Given the description of an element on the screen output the (x, y) to click on. 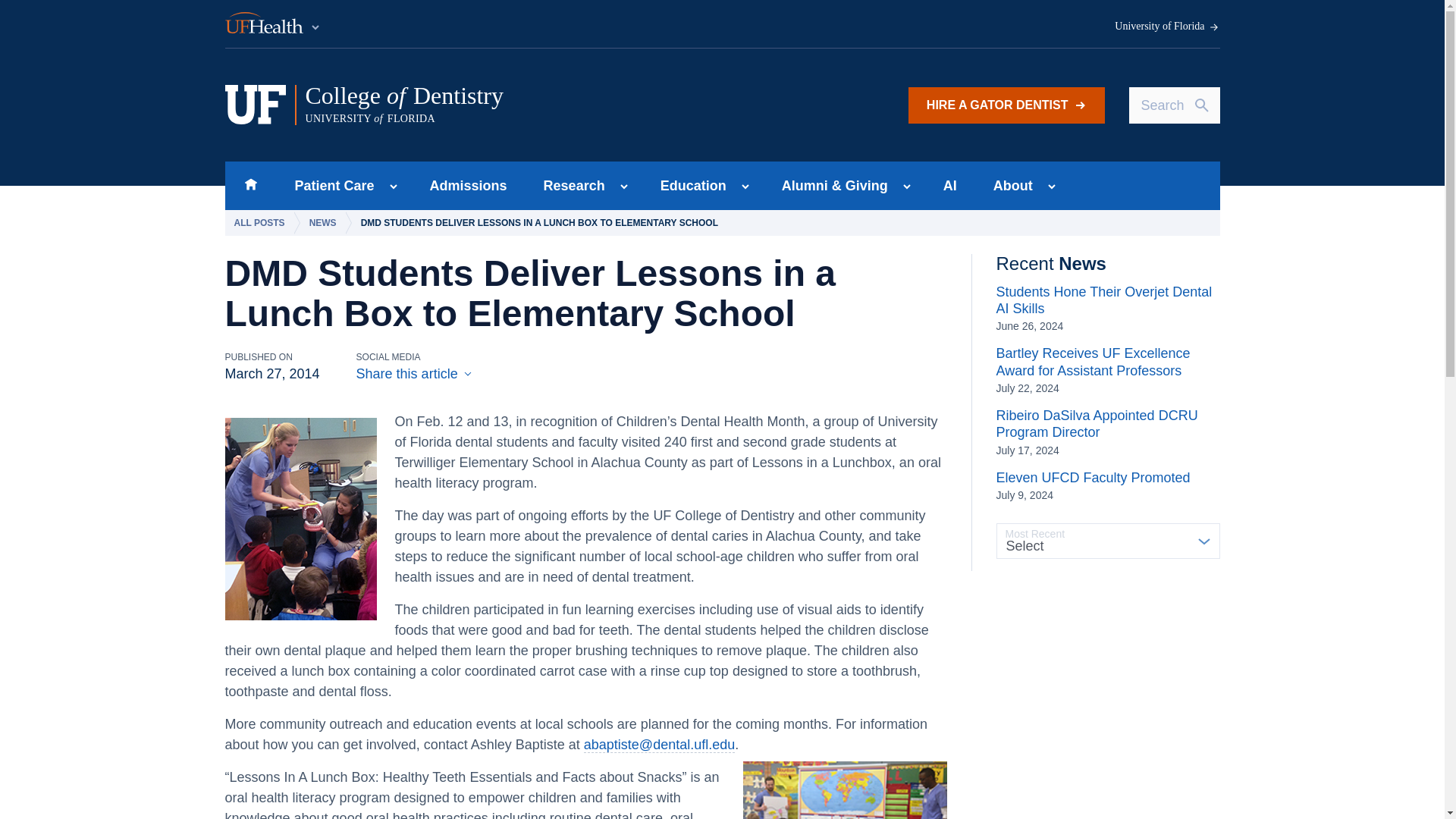
University of Florida (1167, 26)
Skip to main content (515, 105)
HIRE A GATOR DENTIST (272, 24)
Admissions (1006, 104)
Home (468, 185)
Research (250, 185)
Patient Care (569, 185)
